Given the description of an element on the screen output the (x, y) to click on. 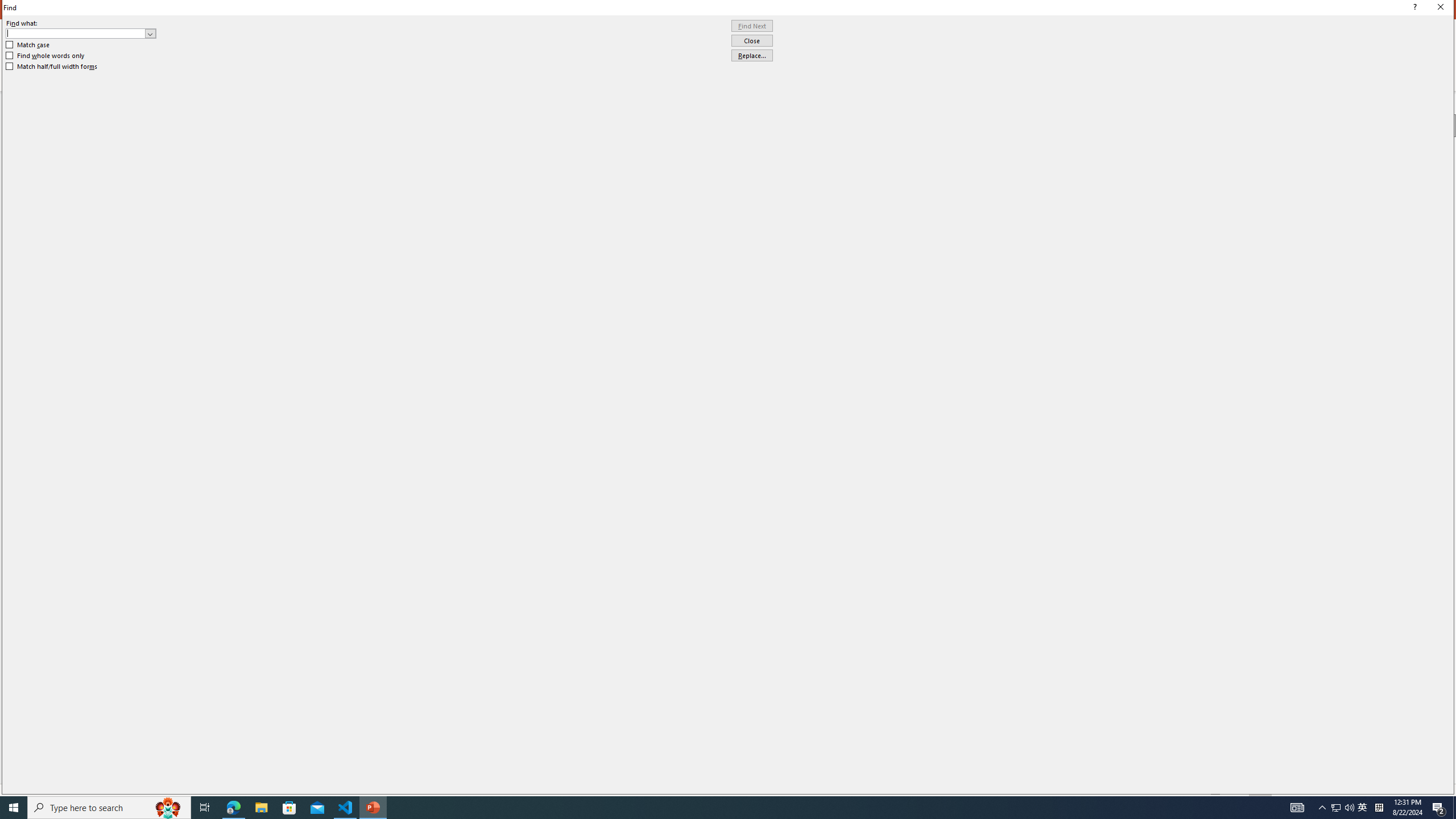
Context help (1413, 8)
Match half/full width forms (52, 66)
Find whole words only (45, 55)
Find what (75, 33)
Find what (80, 33)
Find Next (751, 25)
Match case (27, 44)
